Given the description of an element on the screen output the (x, y) to click on. 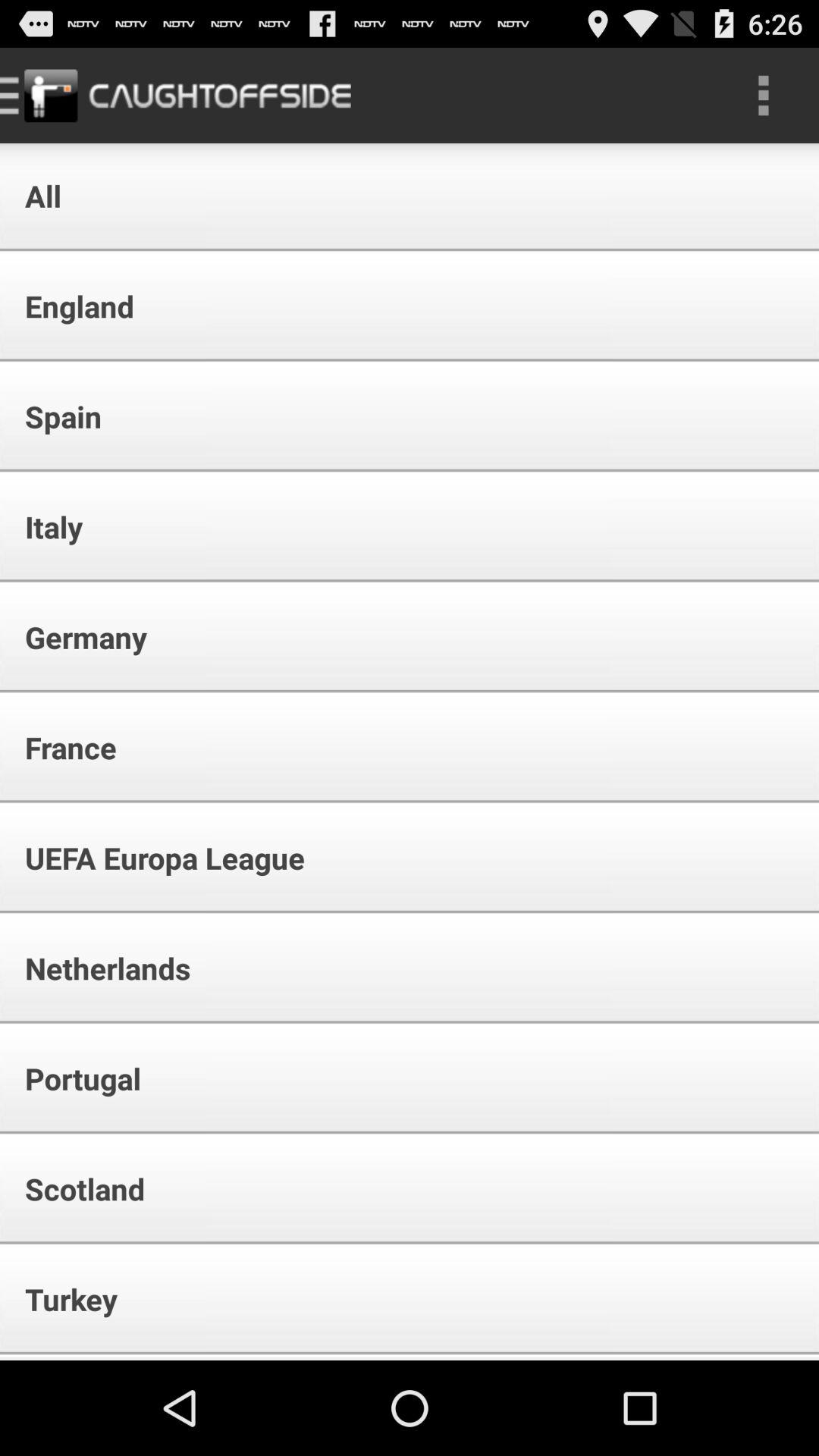
choose item below the netherlands icon (73, 1078)
